Given the description of an element on the screen output the (x, y) to click on. 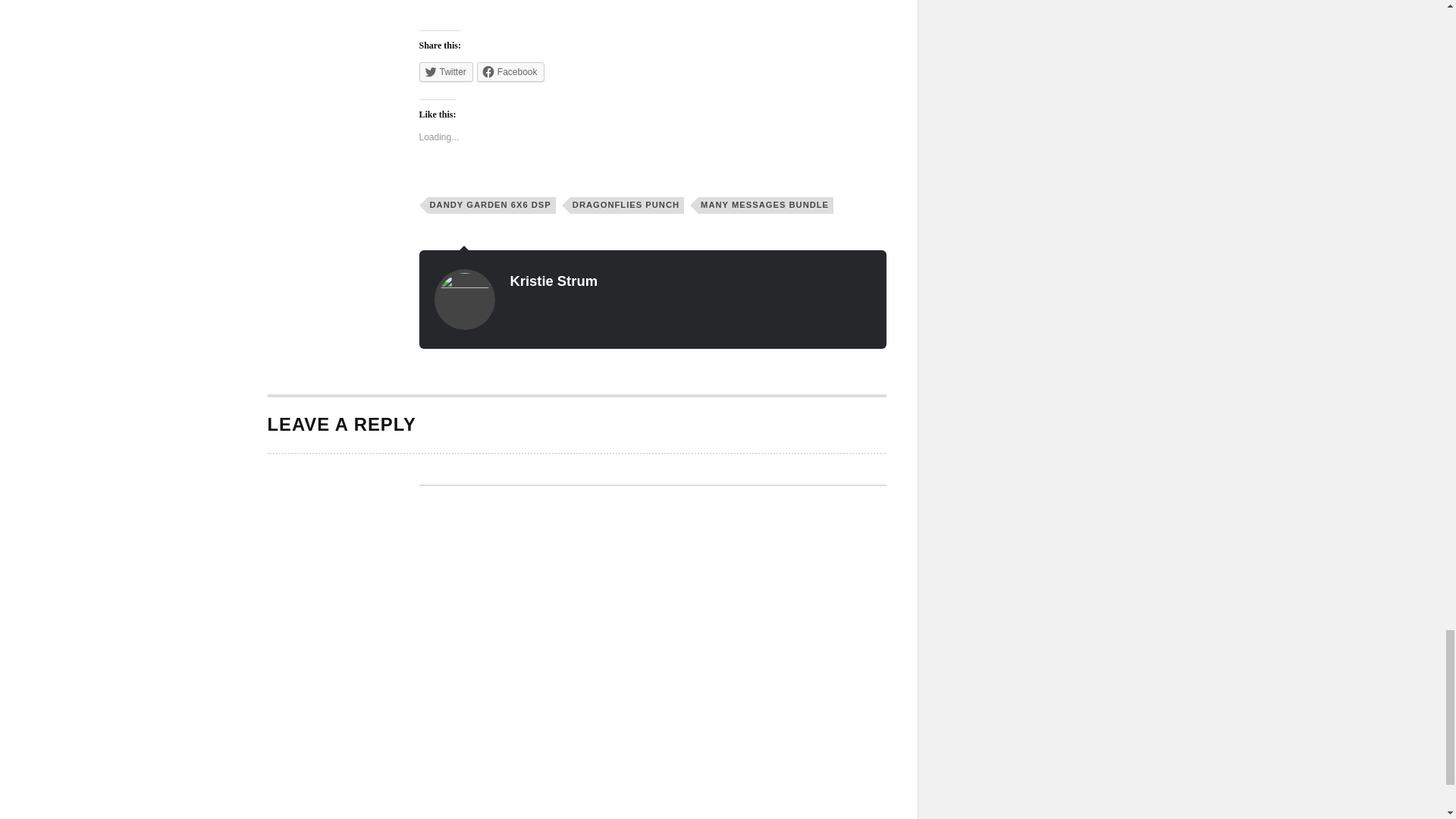
DANDY GARDEN 6X6 DSP (492, 205)
MANY MESSAGES BUNDLE (765, 205)
DRAGONFLIES PUNCH (627, 205)
Click to share on Facebook (510, 71)
Kristie Strum (552, 280)
Facebook (510, 71)
Twitter (445, 71)
Click to share on Twitter (445, 71)
